Given the description of an element on the screen output the (x, y) to click on. 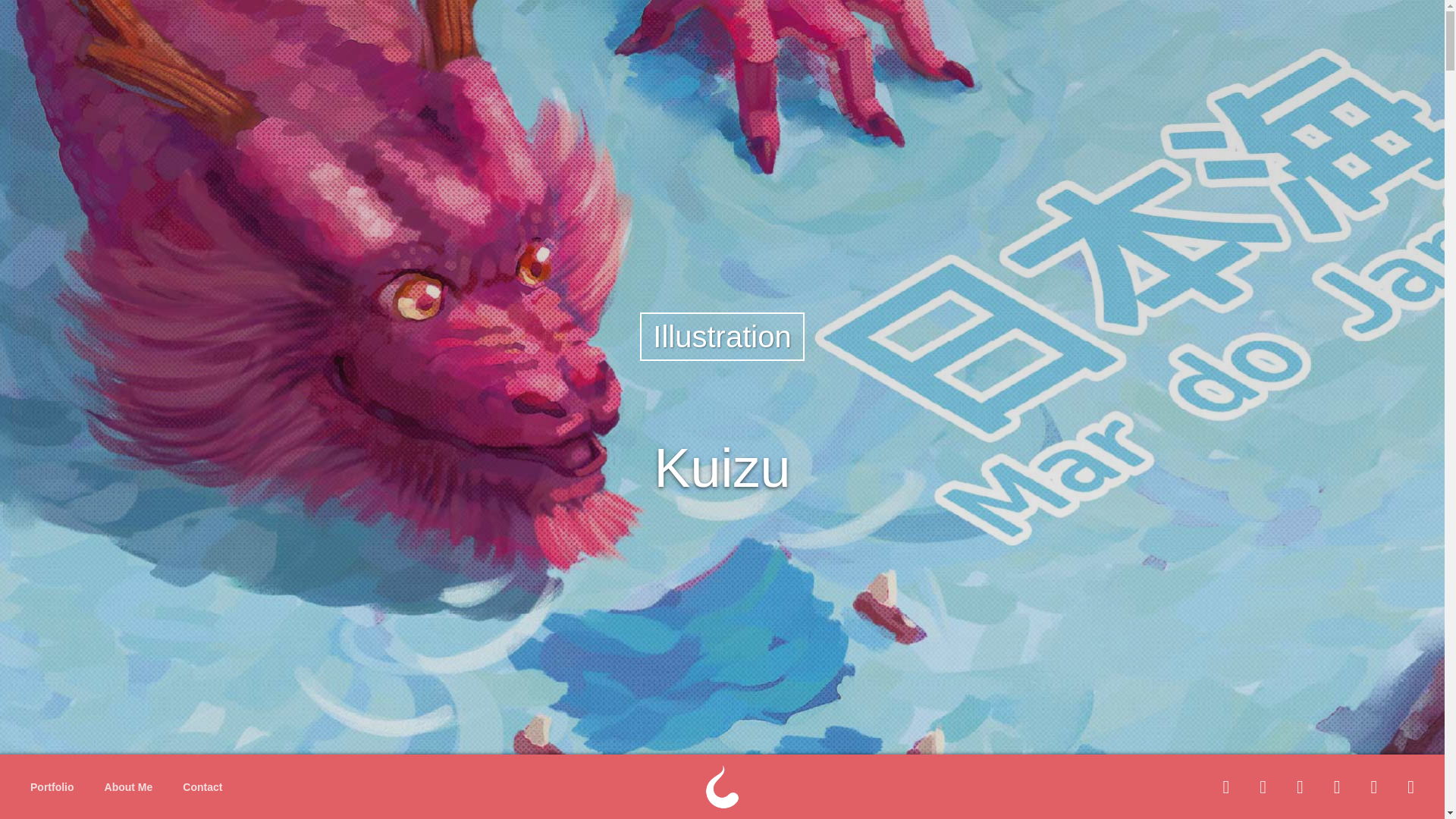
About Me (128, 786)
Contact (202, 786)
Sobre Mim (131, 786)
Contato (208, 786)
